Given the description of an element on the screen output the (x, y) to click on. 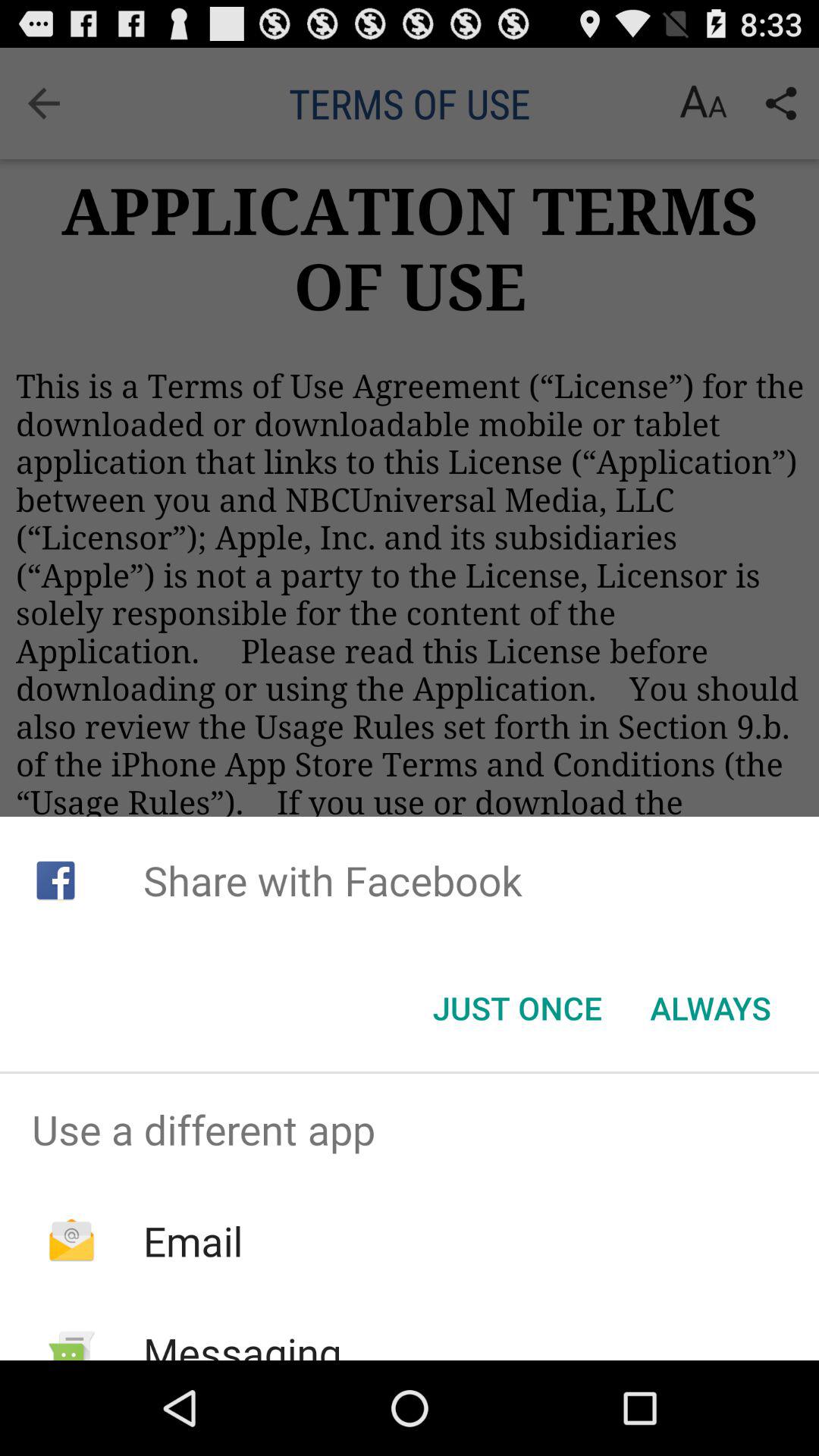
choose the always button (710, 1007)
